Given the description of an element on the screen output the (x, y) to click on. 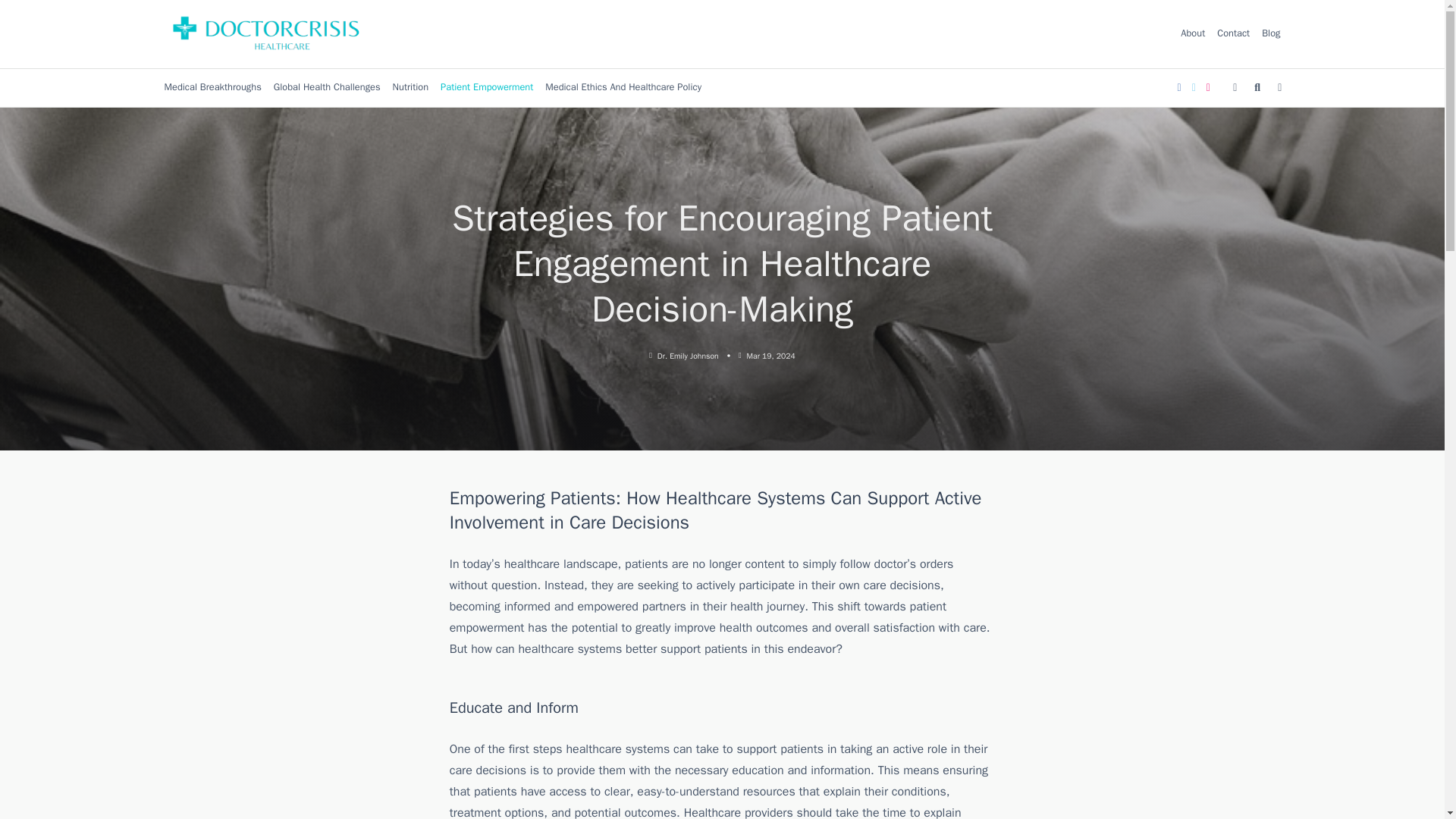
Medical Ethics And Healthcare Policy (622, 87)
Medical Breakthroughs (211, 87)
Global Health Challenges (327, 87)
Contact (1233, 33)
Patient Empowerment (485, 87)
About (1192, 33)
Nutrition (411, 87)
